Given the description of an element on the screen output the (x, y) to click on. 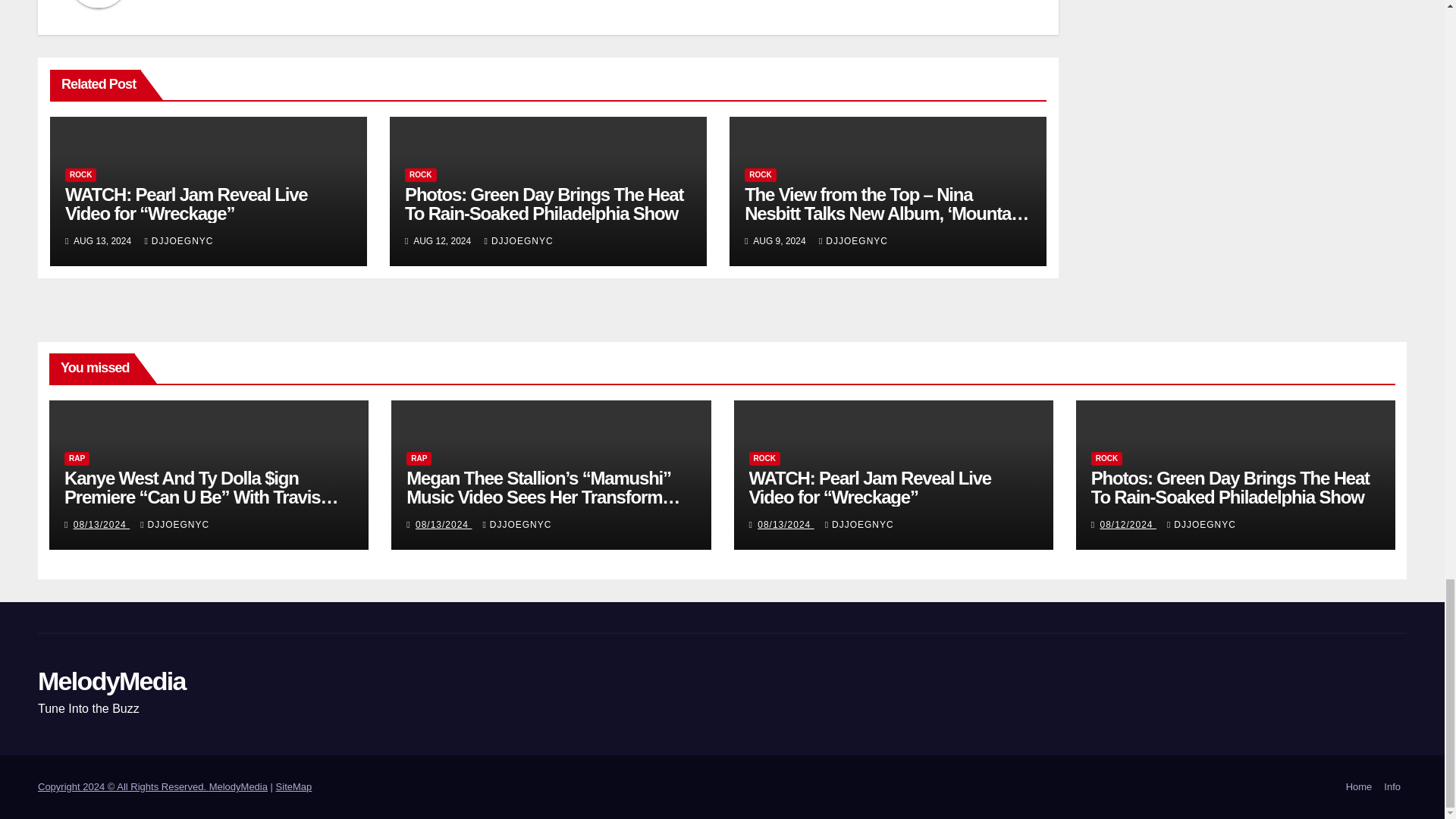
Home (1358, 786)
ROCK (80, 174)
